Given the description of an element on the screen output the (x, y) to click on. 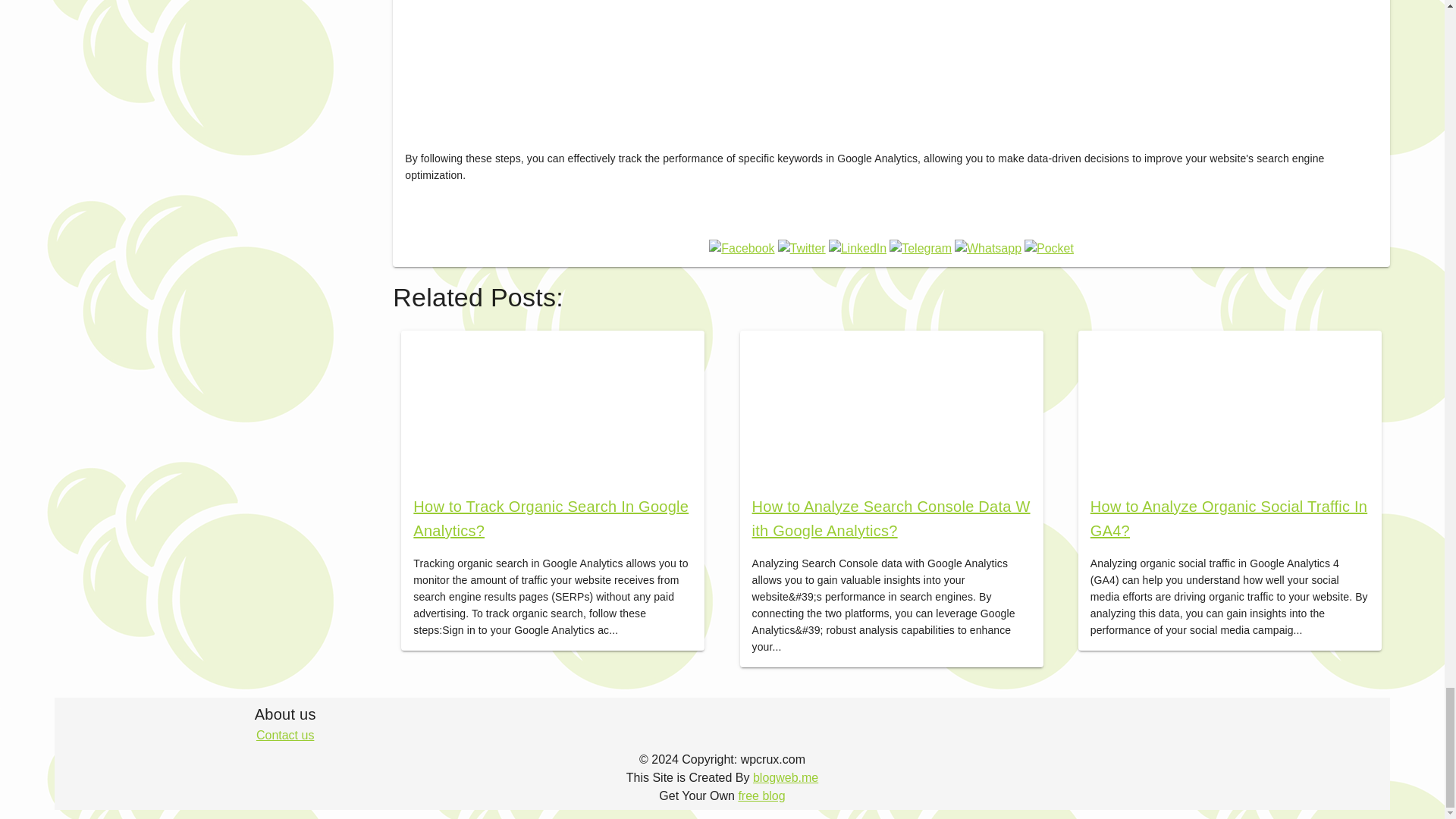
Pocket (1049, 248)
Telegram (920, 248)
LinkedIn (857, 248)
Twitter (801, 248)
Whatsapp (988, 248)
Facebook (741, 248)
